Given the description of an element on the screen output the (x, y) to click on. 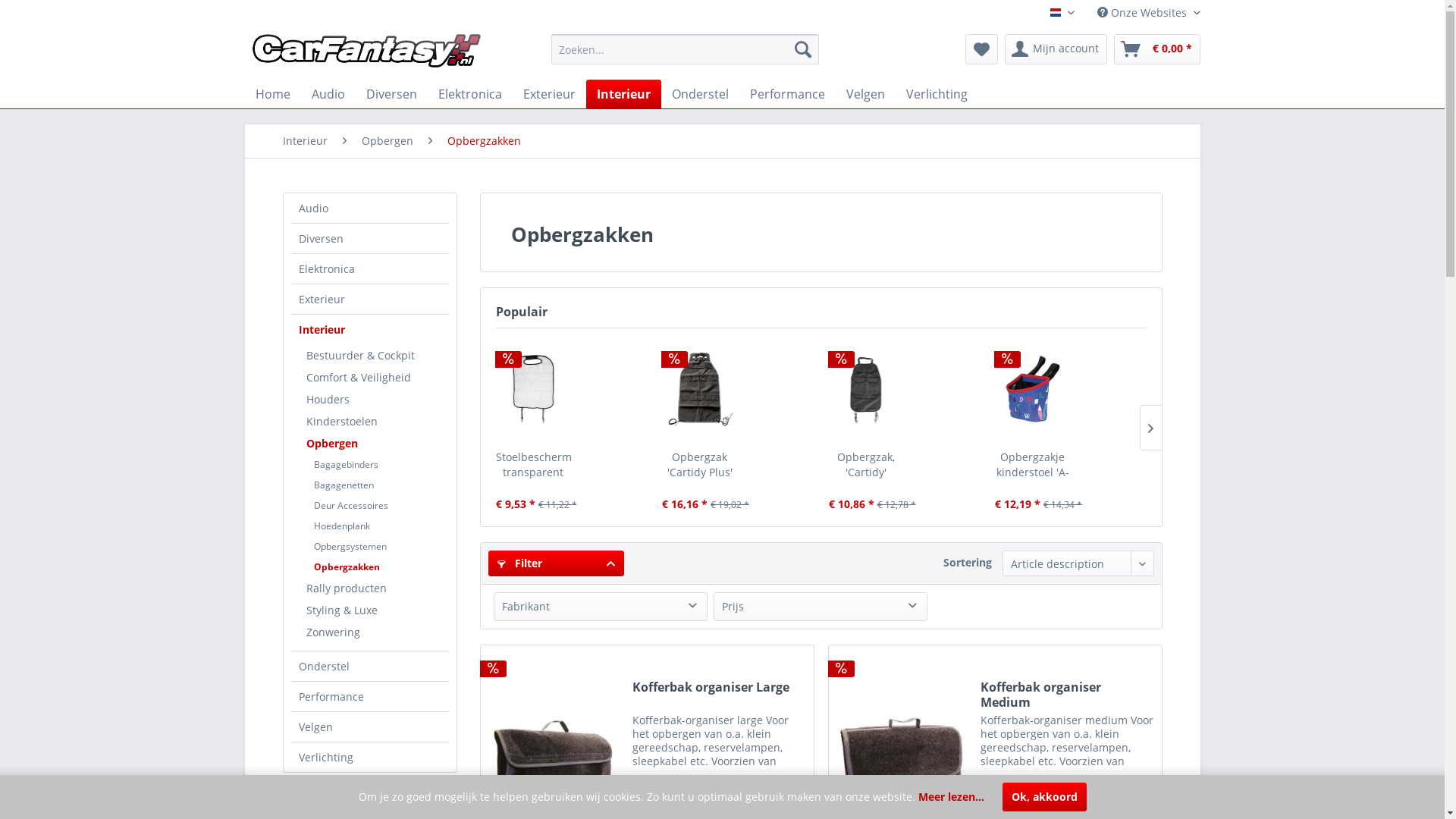
Diversen Element type: text (369, 238)
Opbergsystemen Element type: text (377, 546)
Verlichting Element type: text (369, 756)
Exterieur Element type: text (369, 298)
Rally producten Element type: text (373, 588)
Diversen Element type: text (390, 93)
Bagagenetten Element type: text (377, 484)
Ok, akkoord Element type: text (1044, 796)
Verlanglijstje Element type: hover (980, 49)
Meer lezen... Element type: text (950, 796)
Opbergzak, 'Cartidy' Element type: hover (865, 388)
Performance Element type: text (369, 696)
Filter Element type: text (556, 563)
Opbergzakken Element type: text (483, 140)
Opbergzak 'Cartidy Plus' Element type: text (699, 464)
Onderstel Element type: text (700, 93)
Audio Element type: text (327, 93)
Interieur Element type: text (622, 93)
Opbergzak, 'Cartidy' Element type: text (865, 464)
Home Element type: text (272, 93)
Opbergzakken Element type: text (377, 566)
Verlichting Element type: text (935, 93)
Opbergen Element type: text (386, 140)
Velgen Element type: text (865, 93)
Kofferbak organiser Medium Element type: text (1067, 694)
Deur Accessoires Element type: text (377, 505)
Elektronica Element type: text (469, 93)
Elektronica Element type: text (369, 268)
Car Fantasy BE - Naar de startpagina gaan Element type: hover (365, 53)
Velgen Element type: text (369, 726)
Opbergzak, 'Cartidy' Element type: hover (865, 388)
Kofferbak organiser Large Element type: text (719, 694)
Styling & Luxe Element type: text (373, 610)
Interieur Element type: text (369, 329)
Performance Element type: text (786, 93)
Exterieur Element type: text (549, 93)
Audio Element type: text (369, 207)
Bestuurder & Cockpit Element type: text (373, 355)
Mijn account Element type: text (1055, 49)
Opbergzakje kinderstoel 'A-B-C' Element type: hover (1032, 388)
Opbergen Element type: text (373, 443)
Opbergzak 'Cartidy Plus' Element type: hover (699, 388)
Opbergzakje kinderstoel 'A-B-C' Element type: hover (1032, 388)
Hoedenplank Element type: text (377, 525)
Houders Element type: text (373, 399)
Stoelbeschermer transparent 58x44cm Element type: hover (533, 388)
Bagagebinders Element type: text (377, 464)
Interieur Element type: text (304, 140)
Stoelbeschermer transparent 58x44cm Element type: text (533, 464)
Stoelbeschermer transparent 58x44cm Element type: hover (533, 388)
Kinderstoelen Element type: text (373, 421)
Zonwering Element type: text (373, 632)
Opbergzakje kinderstoel 'A-B-C' Element type: text (1032, 464)
Comfort & Veiligheid Element type: text (373, 377)
Onderstel Element type: text (369, 665)
Opbergzak 'Cartidy Plus' Element type: hover (699, 388)
